Given the description of an element on the screen output the (x, y) to click on. 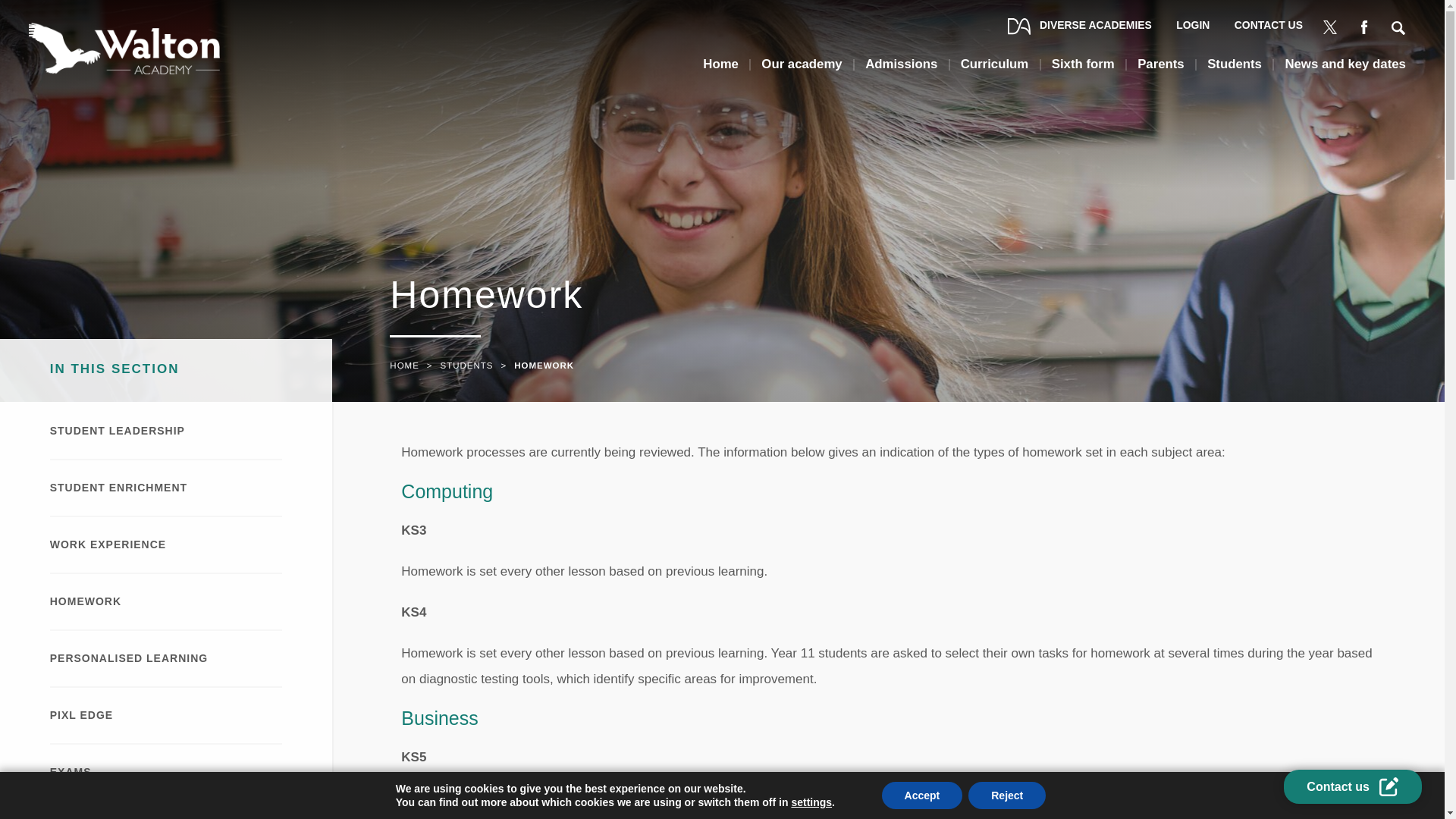
Admissions (900, 70)
Home (720, 70)
Curriculum (994, 70)
Our academy (801, 70)
